Given the description of an element on the screen output the (x, y) to click on. 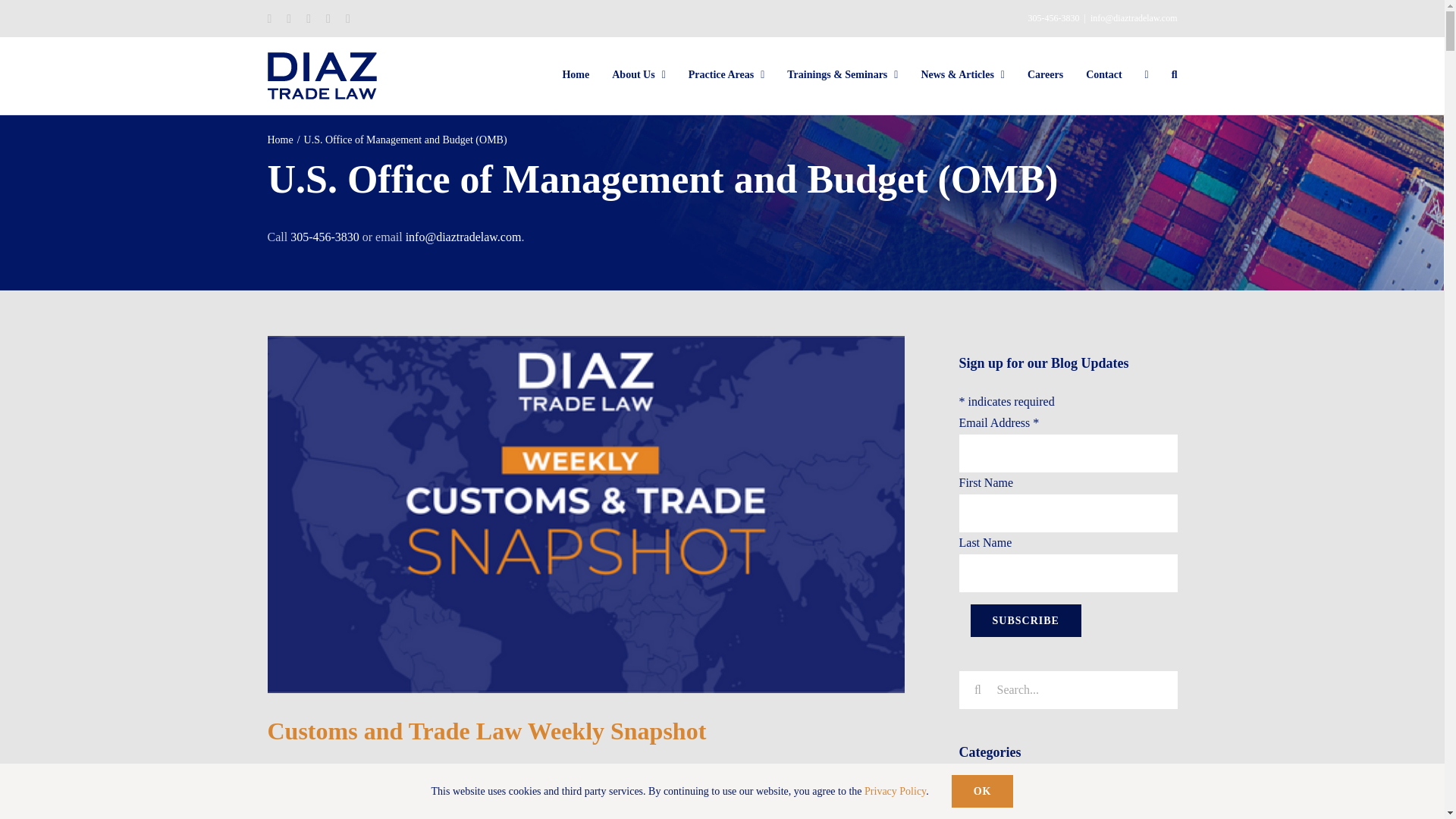
Subscribe (1026, 620)
Practice Areas (726, 74)
